Given the description of an element on the screen output the (x, y) to click on. 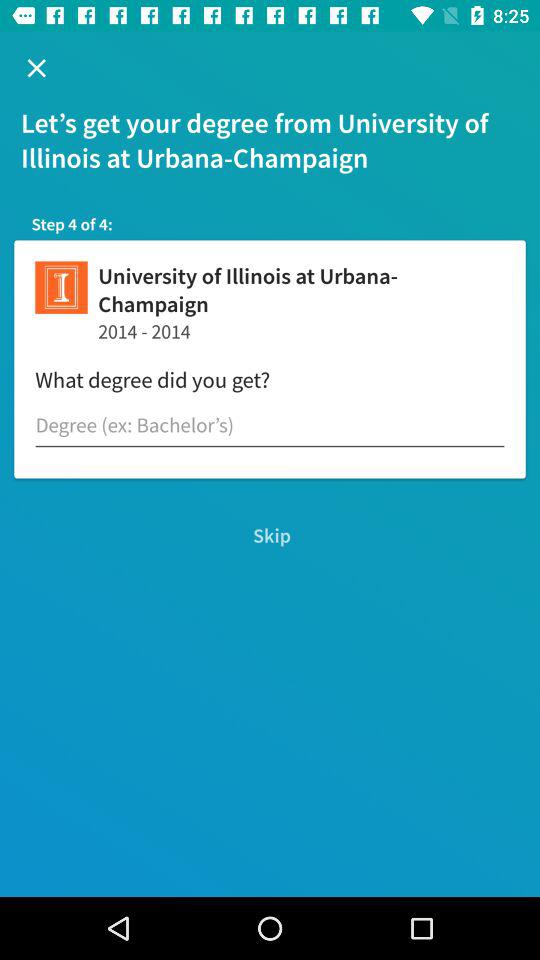
scroll until the skip icon (269, 535)
